Given the description of an element on the screen output the (x, y) to click on. 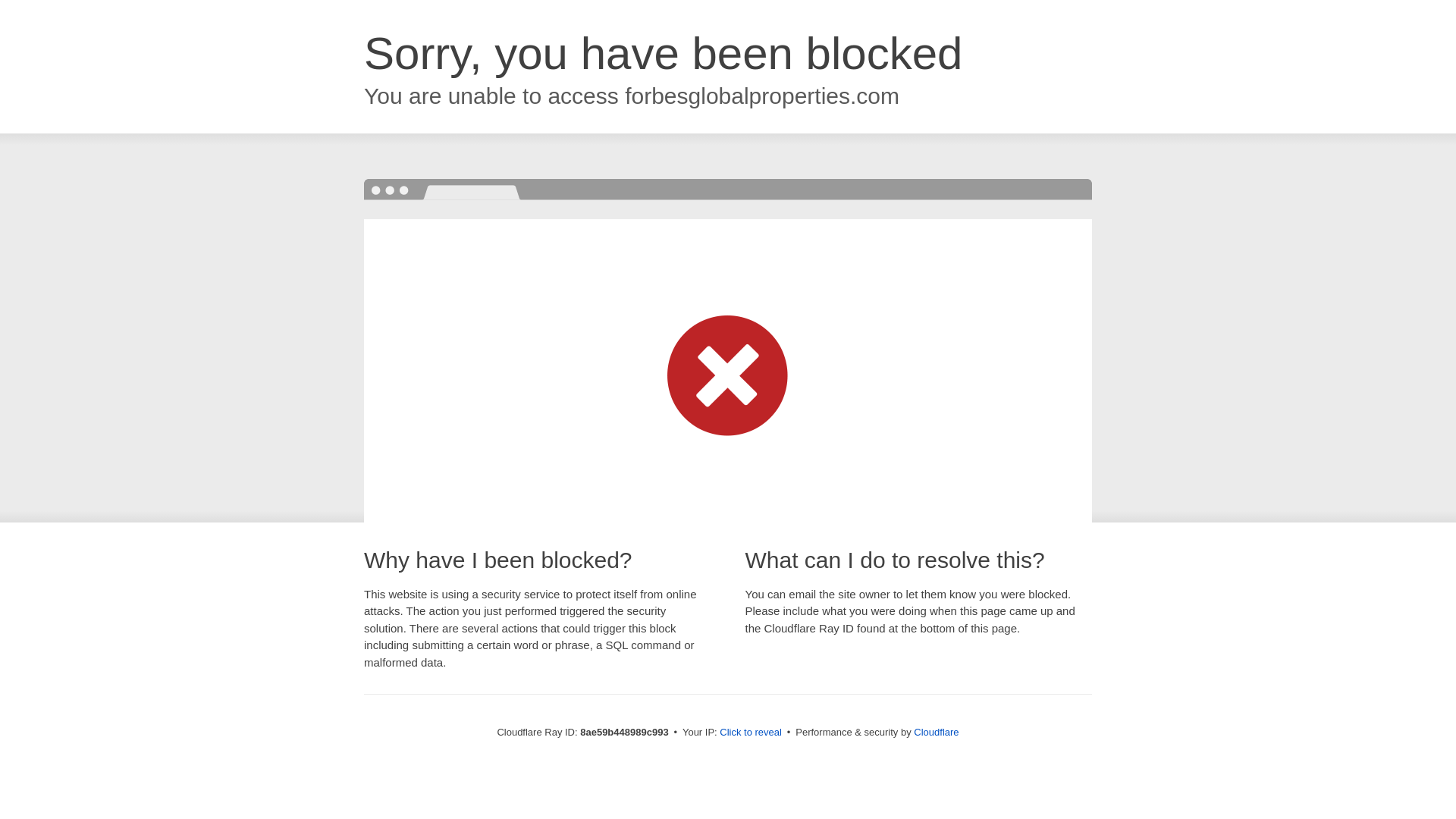
Click to reveal (750, 732)
Cloudflare (936, 731)
